Given the description of an element on the screen output the (x, y) to click on. 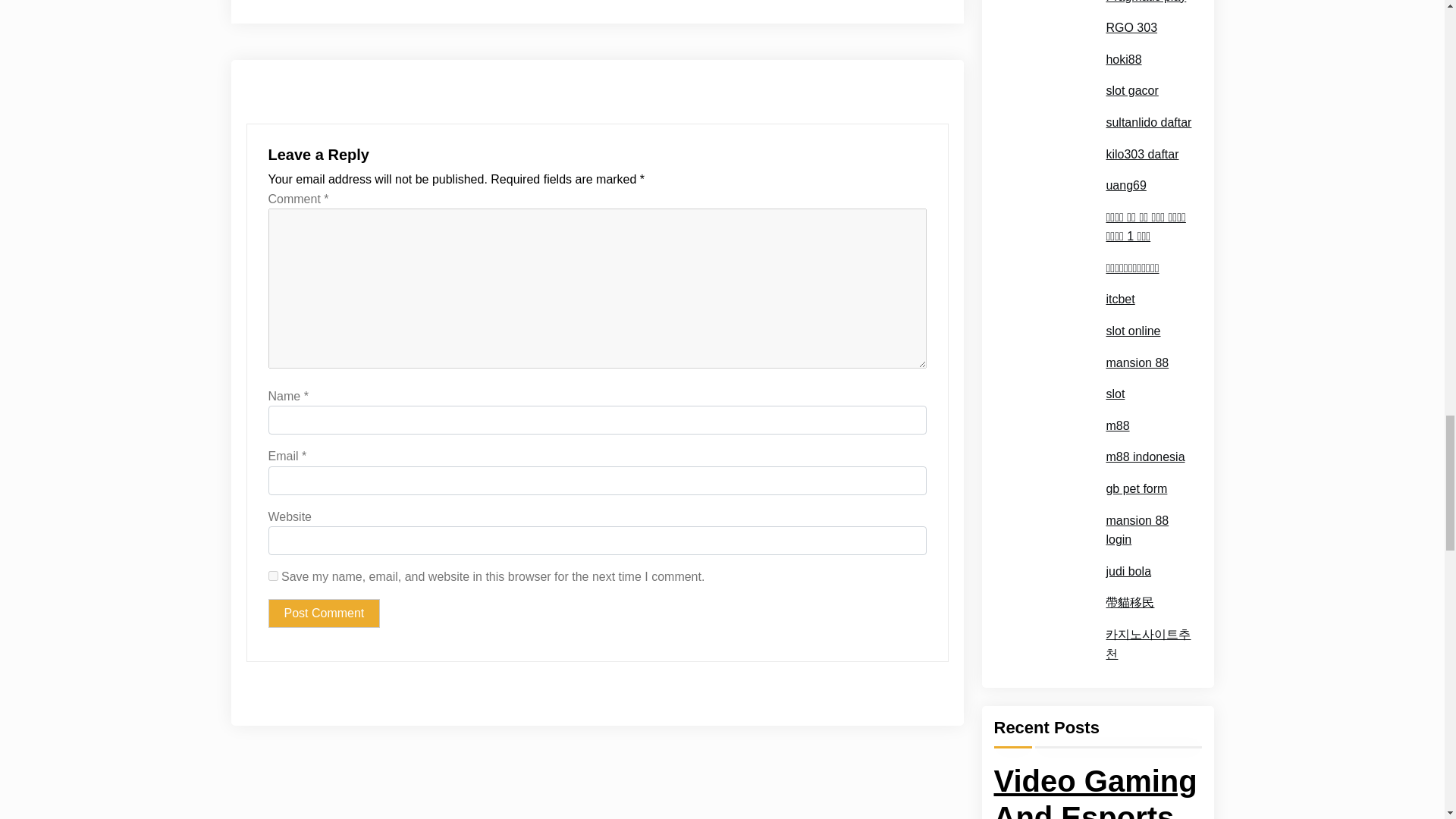
yes (272, 575)
Post Comment (656, 4)
Post Comment (323, 613)
